Given the description of an element on the screen output the (x, y) to click on. 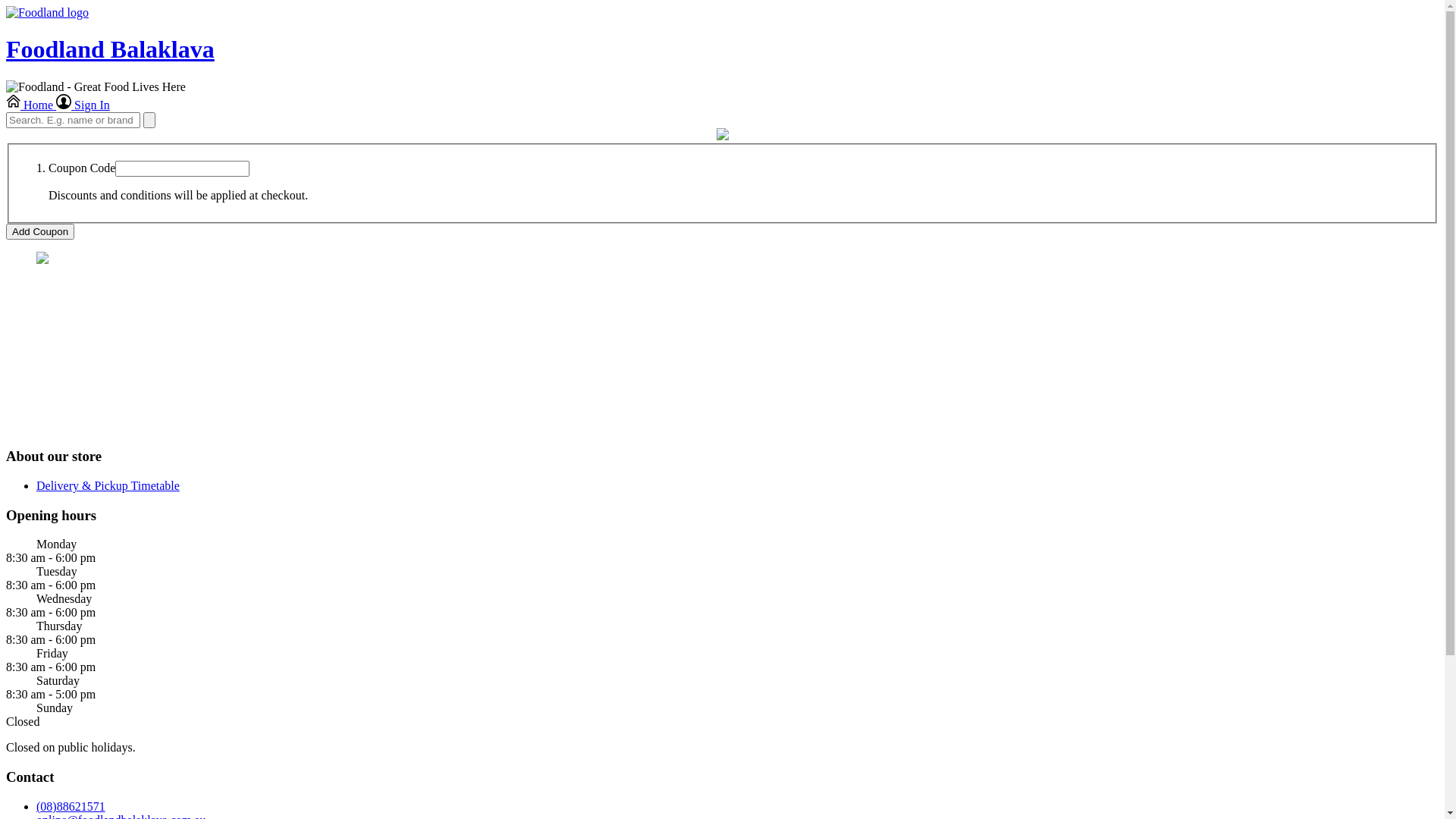
Sign In Element type: text (82, 104)
Search Element type: hover (149, 120)
Facebook Element type: hover (81, 426)
(08)88621571 Element type: text (70, 806)
Home Element type: text (31, 104)
Add Coupon Element type: text (40, 231)
Foodland Balaklava Element type: text (722, 64)
Delivery & Pickup Timetable Element type: text (107, 485)
